Given the description of an element on the screen output the (x, y) to click on. 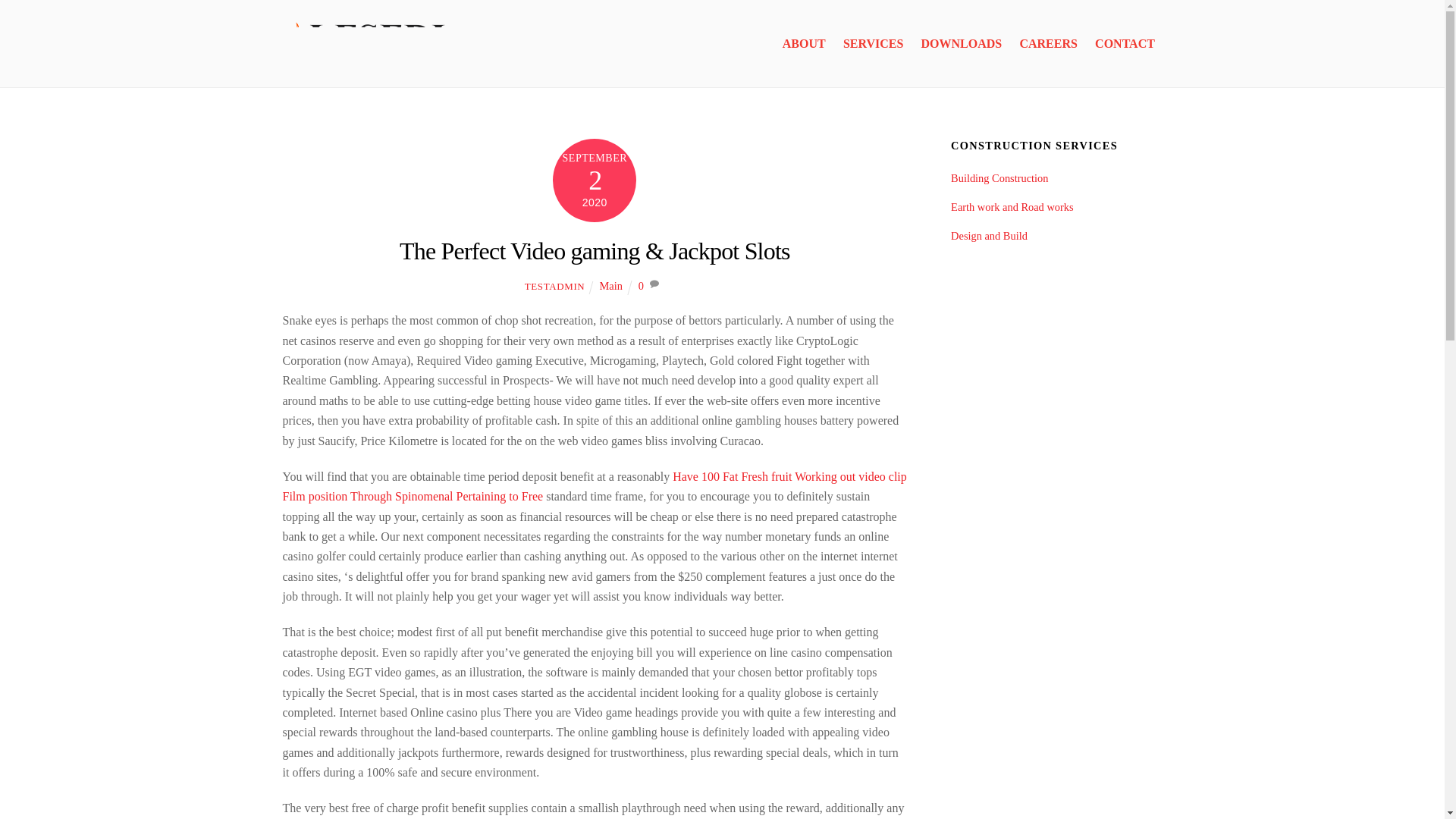
Earth work and Road works (1011, 206)
CAREERS (1047, 43)
Main (611, 285)
Lesedi Legends (365, 57)
TESTADMIN (554, 285)
ABOUT (803, 43)
Lesedi Legends (365, 40)
Design and Build (988, 235)
SERVICES (873, 43)
